Given the description of an element on the screen output the (x, y) to click on. 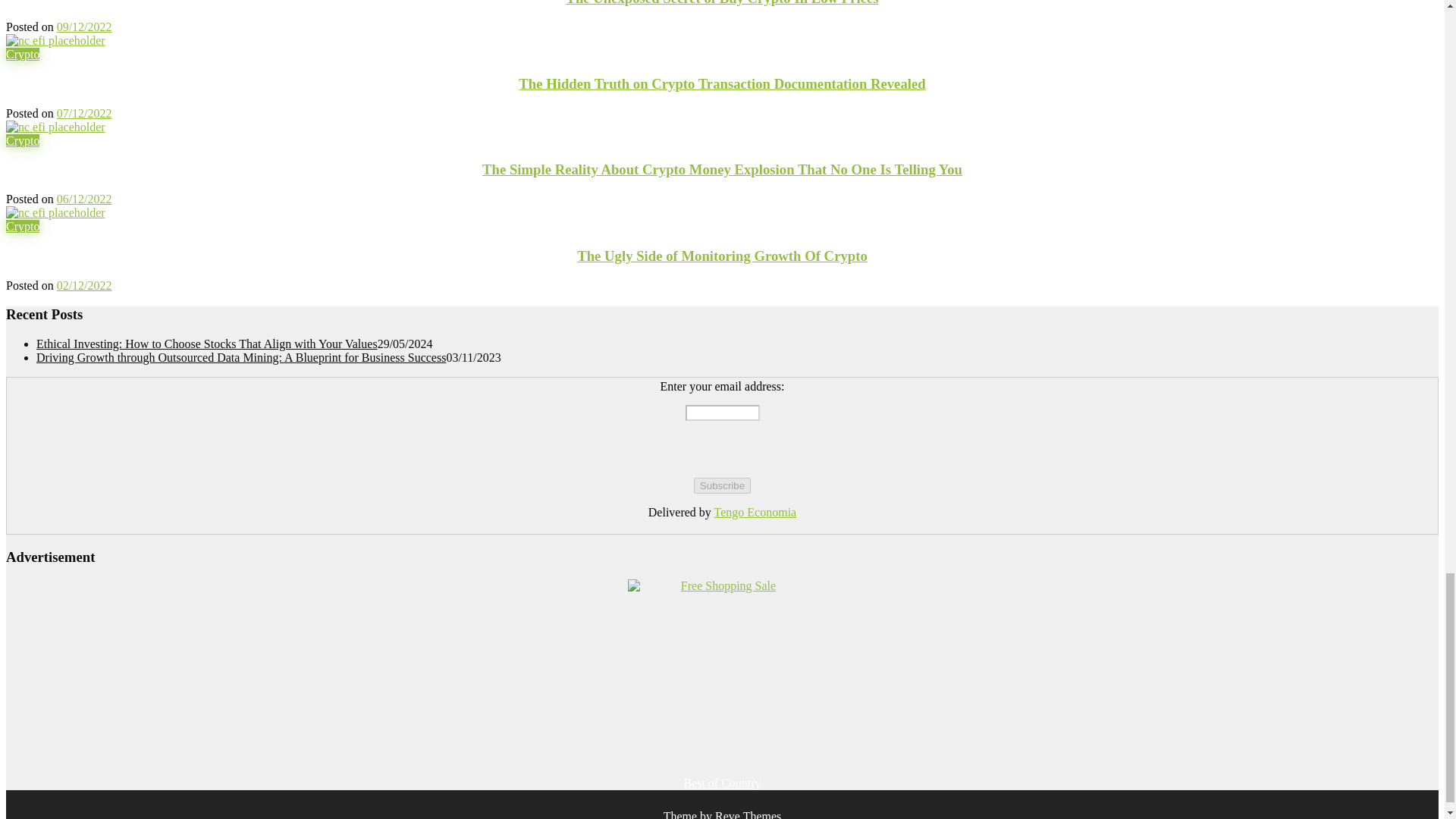
Subscribe (722, 485)
